Given the description of an element on the screen output the (x, y) to click on. 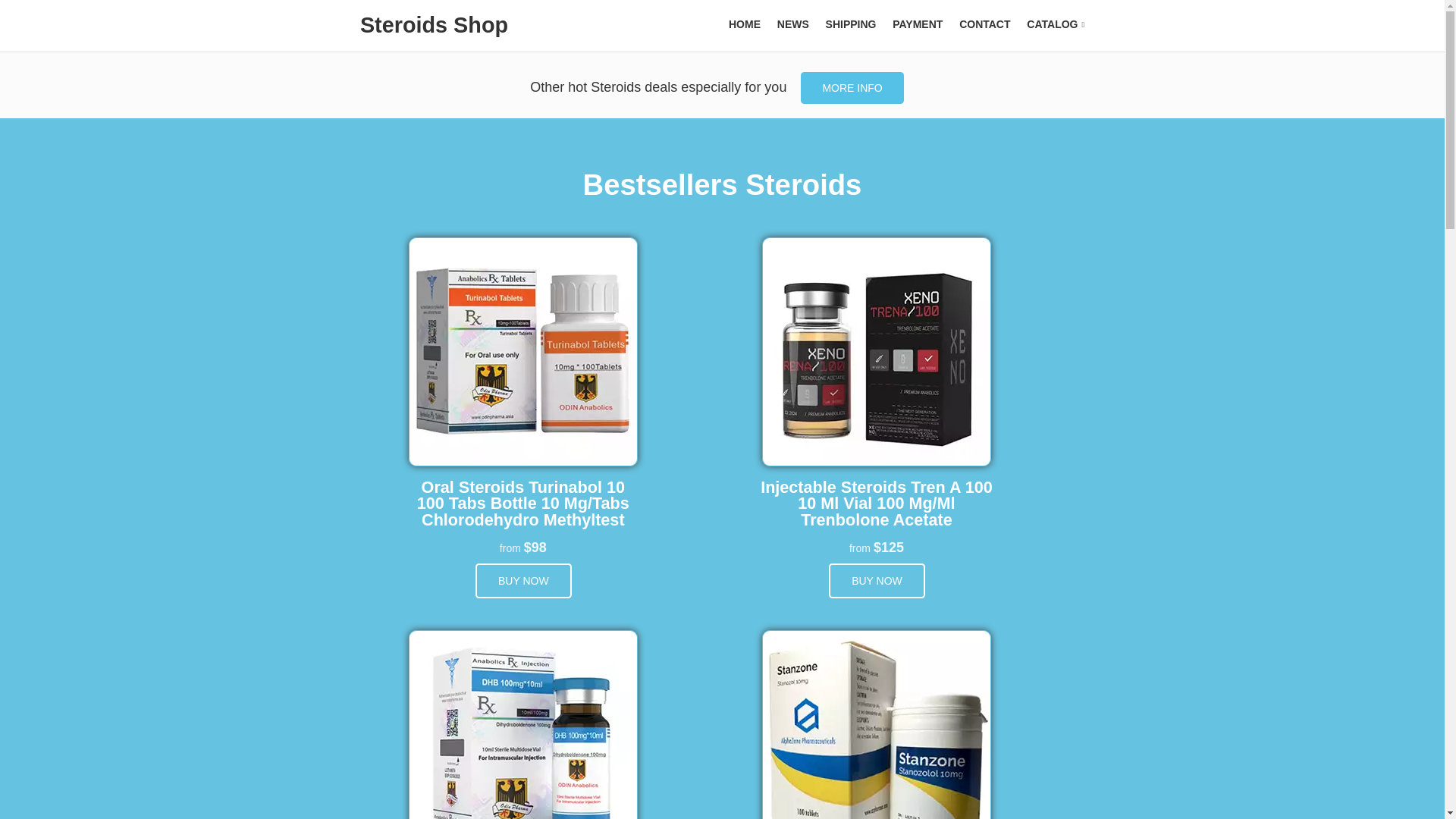
BUY NOW (876, 580)
NEWS (793, 24)
CATALOG (1055, 24)
SHIPPING (850, 24)
HOME (744, 24)
BUY NOW (524, 580)
Steroids Shop (433, 24)
MORE INFO (851, 88)
PAYMENT (917, 24)
CONTACT (984, 24)
